Given the description of an element on the screen output the (x, y) to click on. 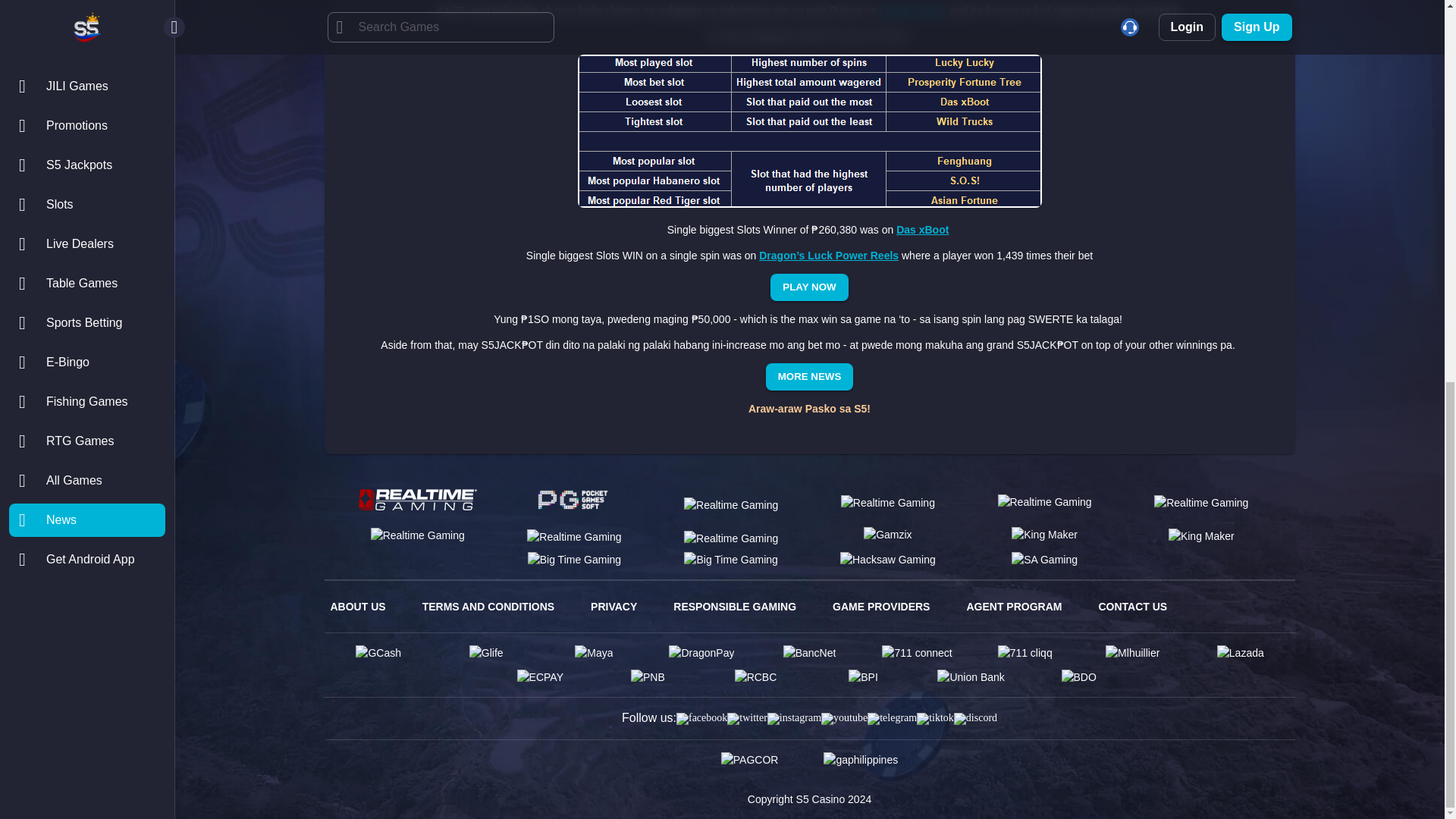
Hacksaw (888, 559)
Big Time Gaming (574, 559)
Ebingo (574, 534)
Maya (593, 652)
JILI (730, 559)
PG Soft (573, 501)
Red Tiger (730, 501)
Lucky Lucky (911, 10)
Das xBoot (922, 229)
Net Gaming (1201, 534)
Evolution (1044, 501)
Netent (1200, 501)
DragonPay (700, 652)
MORE NEWS (809, 376)
King Maker (1044, 534)
